Given the description of an element on the screen output the (x, y) to click on. 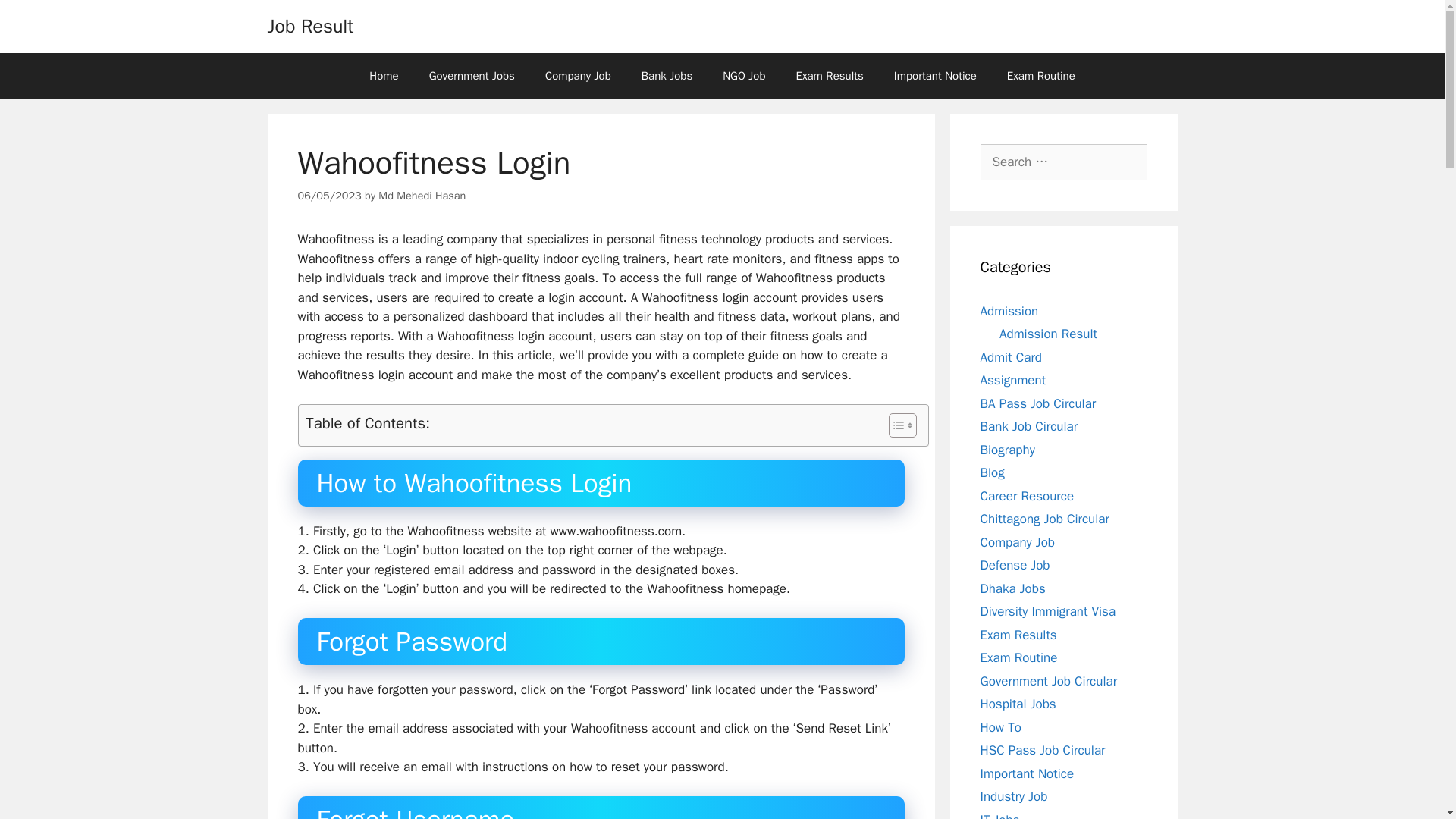
Company Job (577, 75)
Admission Result (1047, 333)
Search (35, 18)
Important Notice (935, 75)
Exam Routine (1040, 75)
Government Jobs (471, 75)
View all posts by Md Mehedi Hasan (421, 195)
Admit Card (1010, 356)
Job Result (309, 25)
Admission (1008, 311)
